Given the description of an element on the screen output the (x, y) to click on. 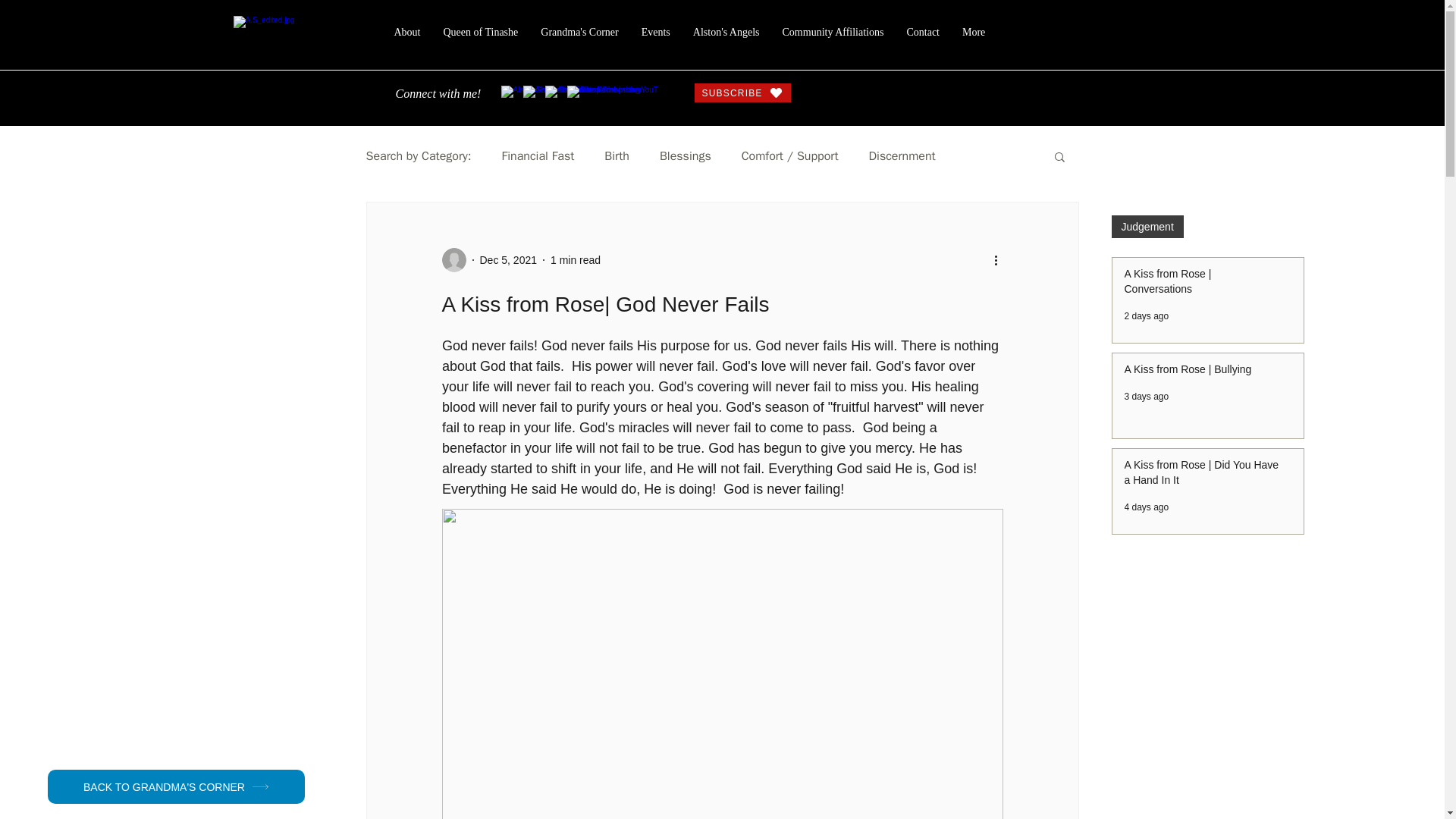
Blessings (685, 156)
About (405, 34)
Search by Category: (417, 156)
2 days ago (1146, 316)
Financial Fast (538, 156)
Birth (616, 156)
Queen of Tinashe (480, 34)
Contact (922, 34)
SUBSCRIBE (742, 92)
1 min read (574, 259)
